Given the description of an element on the screen output the (x, y) to click on. 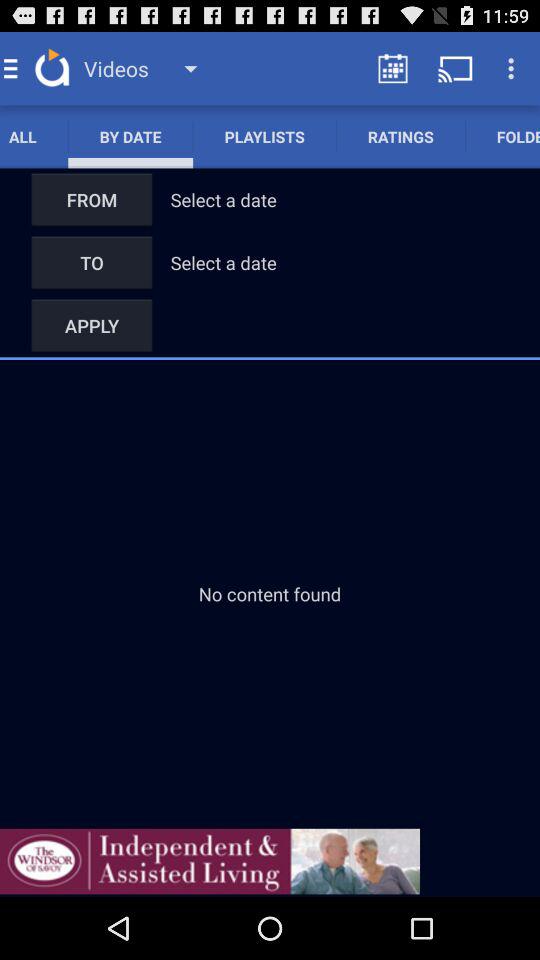
independent assisted living advertisement (210, 861)
